Given the description of an element on the screen output the (x, y) to click on. 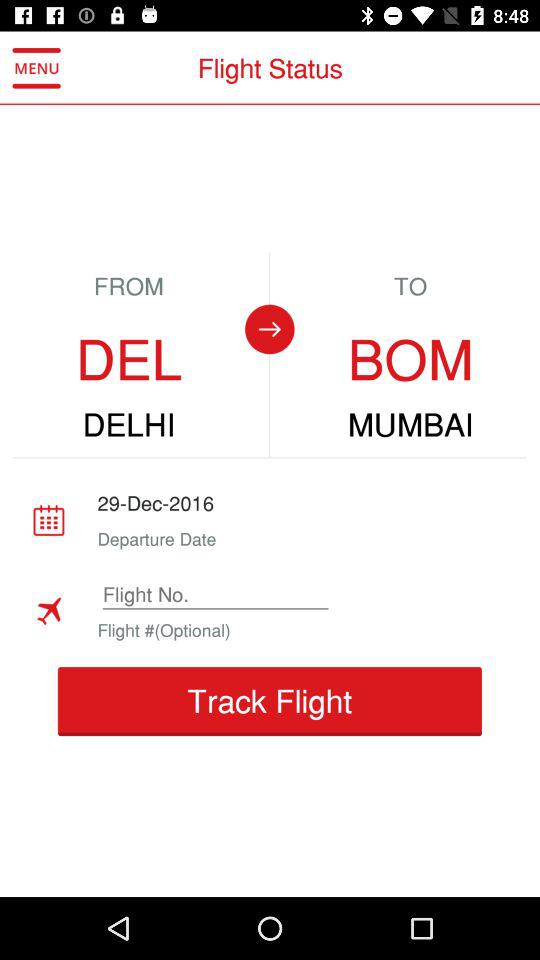
scroll to delhi icon (128, 425)
